Given the description of an element on the screen output the (x, y) to click on. 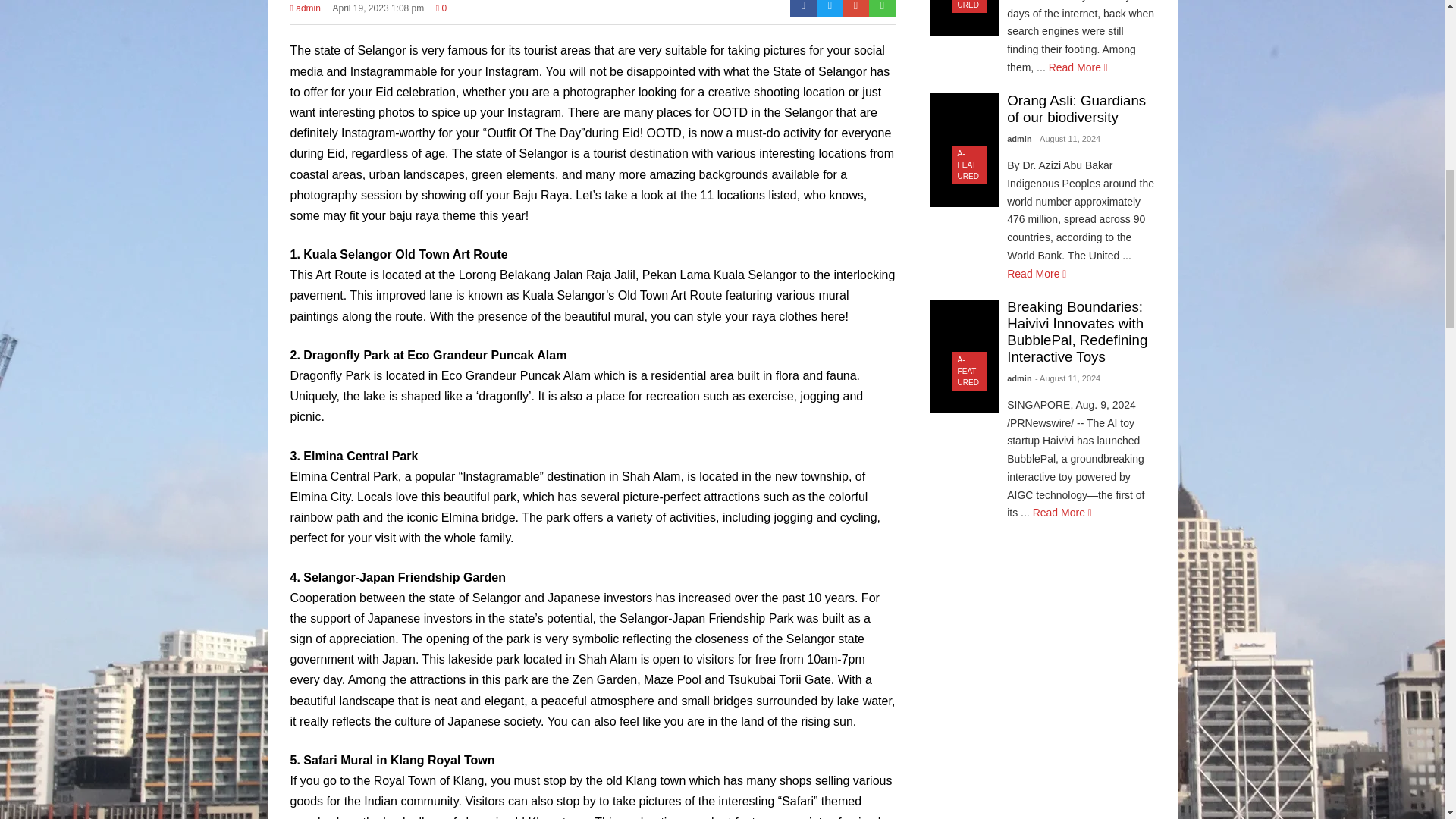
E-mail (856, 8)
April 19, 2023 1:08 pm (379, 12)
Twitter (829, 8)
Whatsapp (882, 8)
Facebook (803, 8)
admin (304, 12)
